Given the description of an element on the screen output the (x, y) to click on. 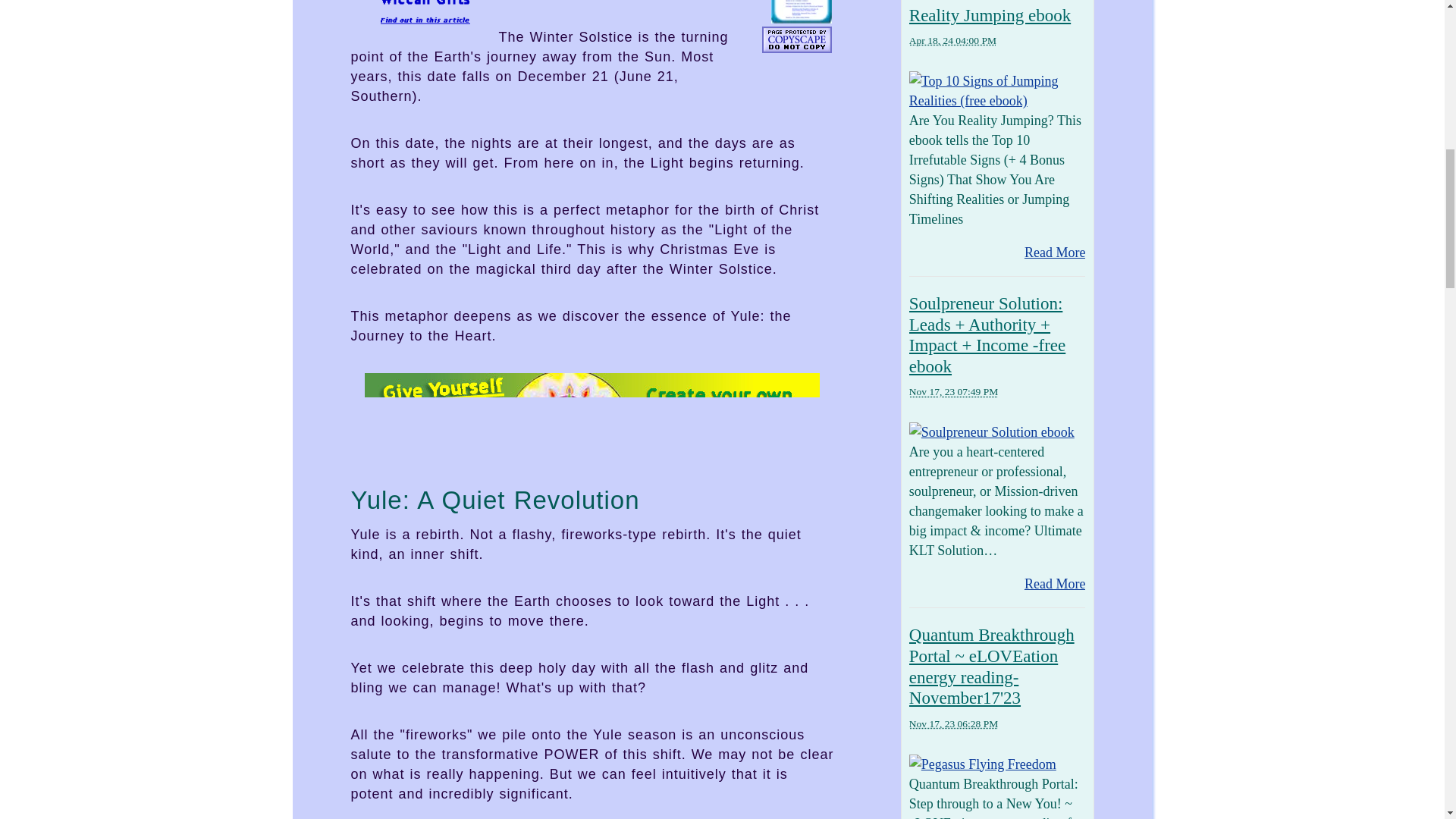
2023-11-17T18:28:27-0500 (952, 723)
2024-04-18T16:00:39-0400 (951, 40)
2023-11-17T19:49:39-0500 (952, 391)
